Given the description of an element on the screen output the (x, y) to click on. 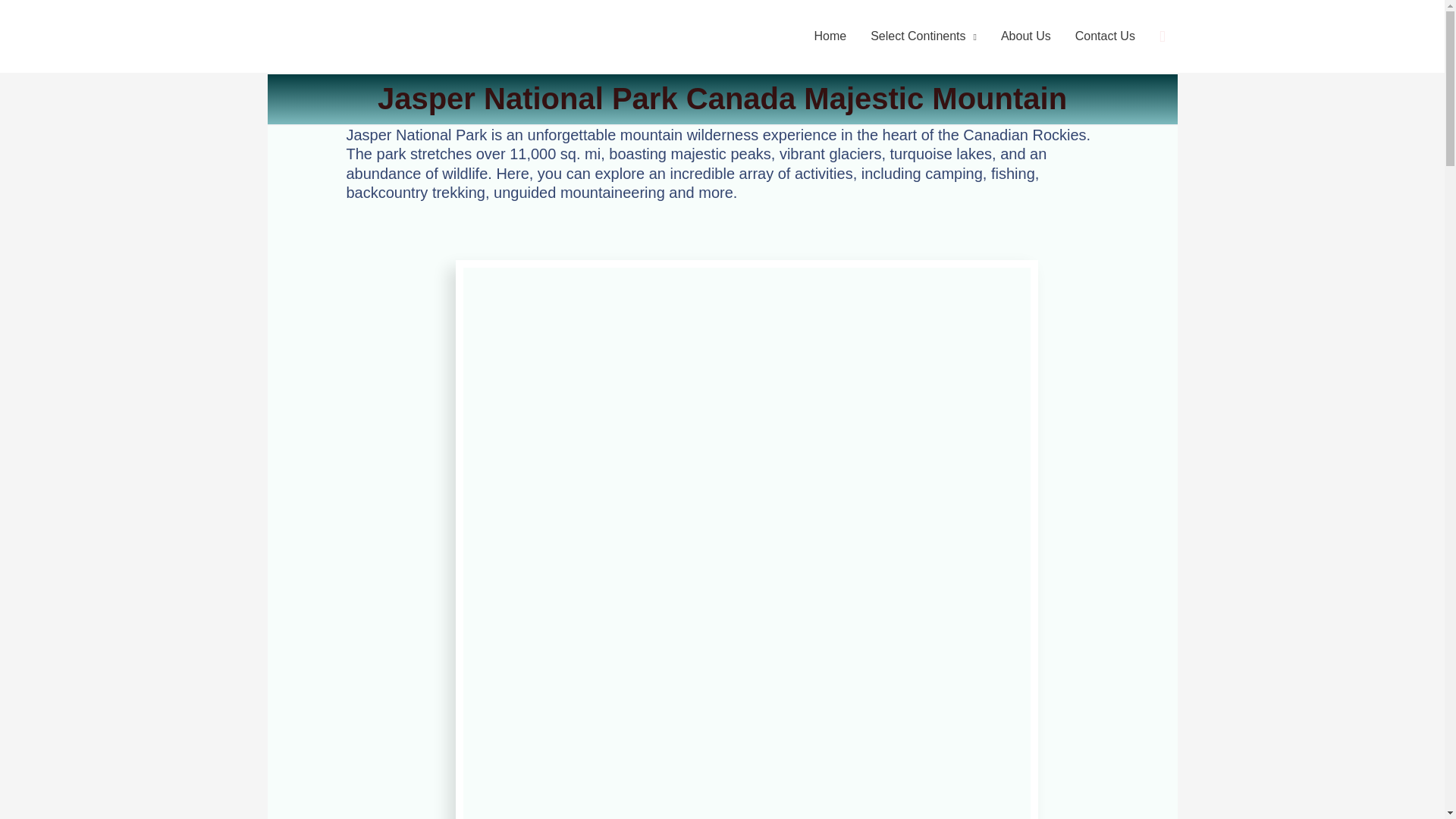
Home (830, 36)
Select Continents (923, 36)
Contact Us (1104, 36)
About Us (1025, 36)
